Given the description of an element on the screen output the (x, y) to click on. 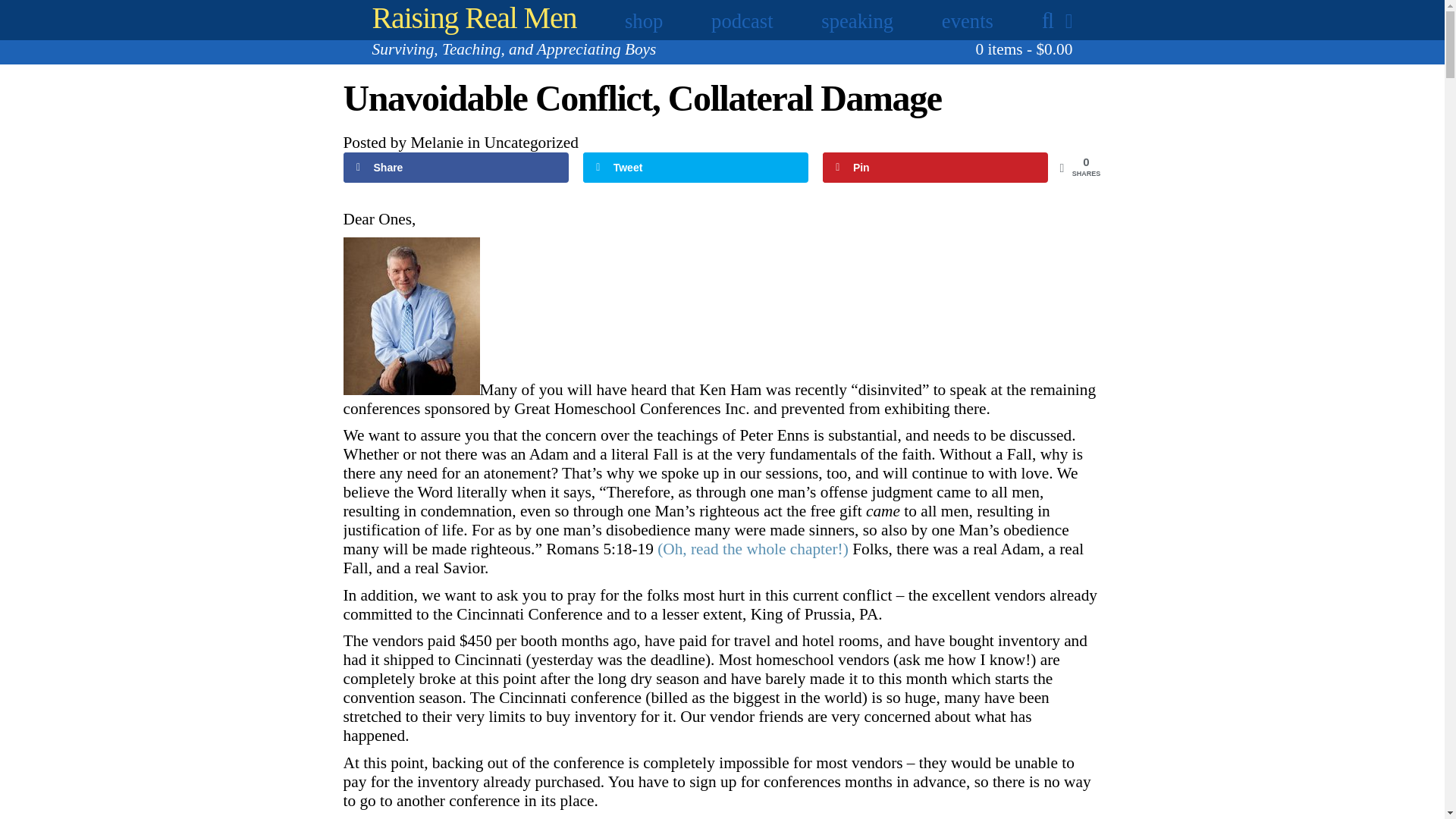
speaking (857, 21)
podcast (742, 21)
events (967, 21)
View your shopping cart (1023, 49)
Tweet (696, 167)
Share (455, 167)
shop (643, 21)
Uncategorized (531, 142)
Pin (935, 167)
Raising Real Men (474, 18)
